Given the description of an element on the screen output the (x, y) to click on. 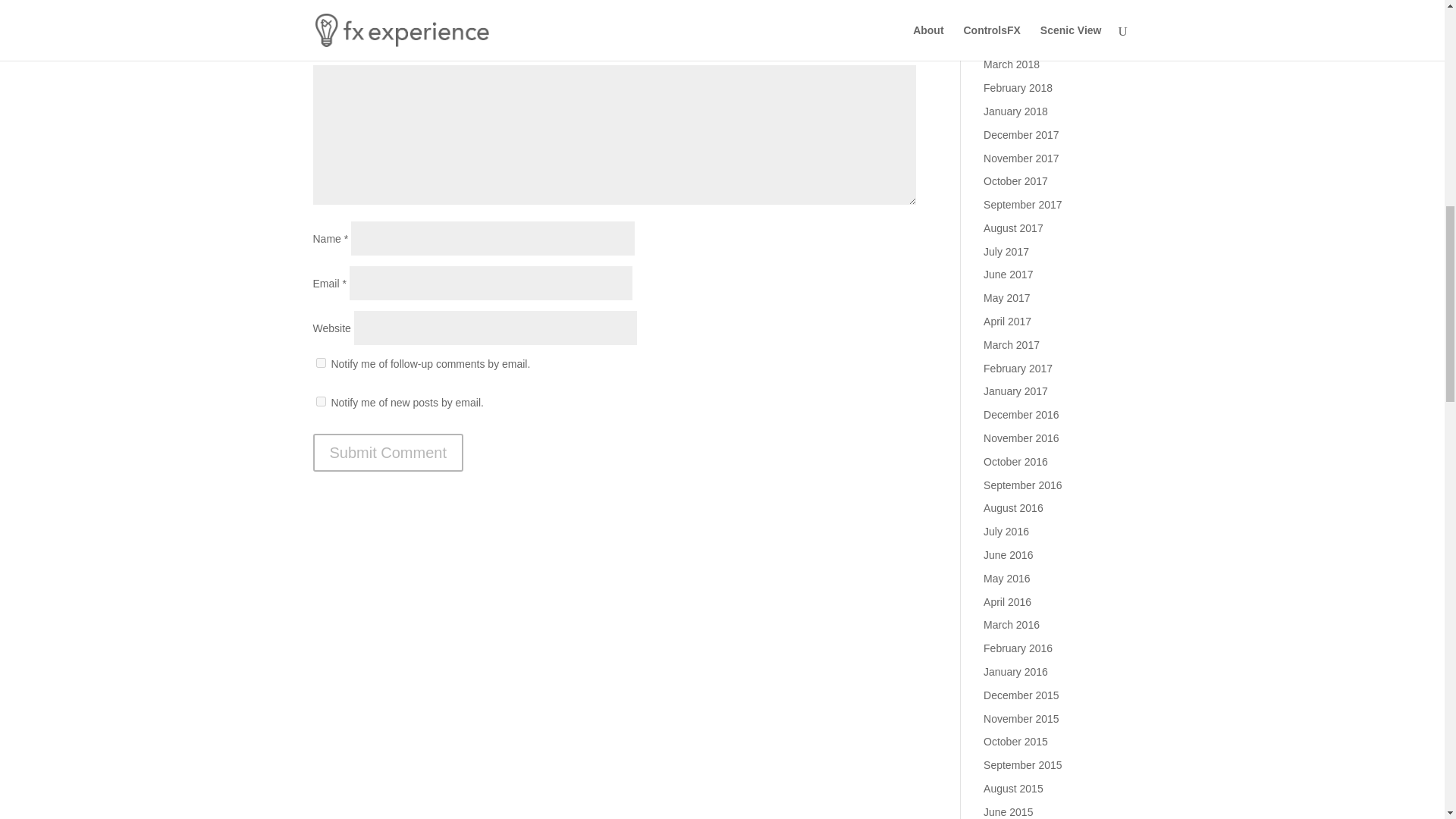
Submit Comment (388, 452)
subscribe (319, 401)
subscribe (319, 362)
Submit Comment (388, 452)
July 2018 (1006, 0)
